Given the description of an element on the screen output the (x, y) to click on. 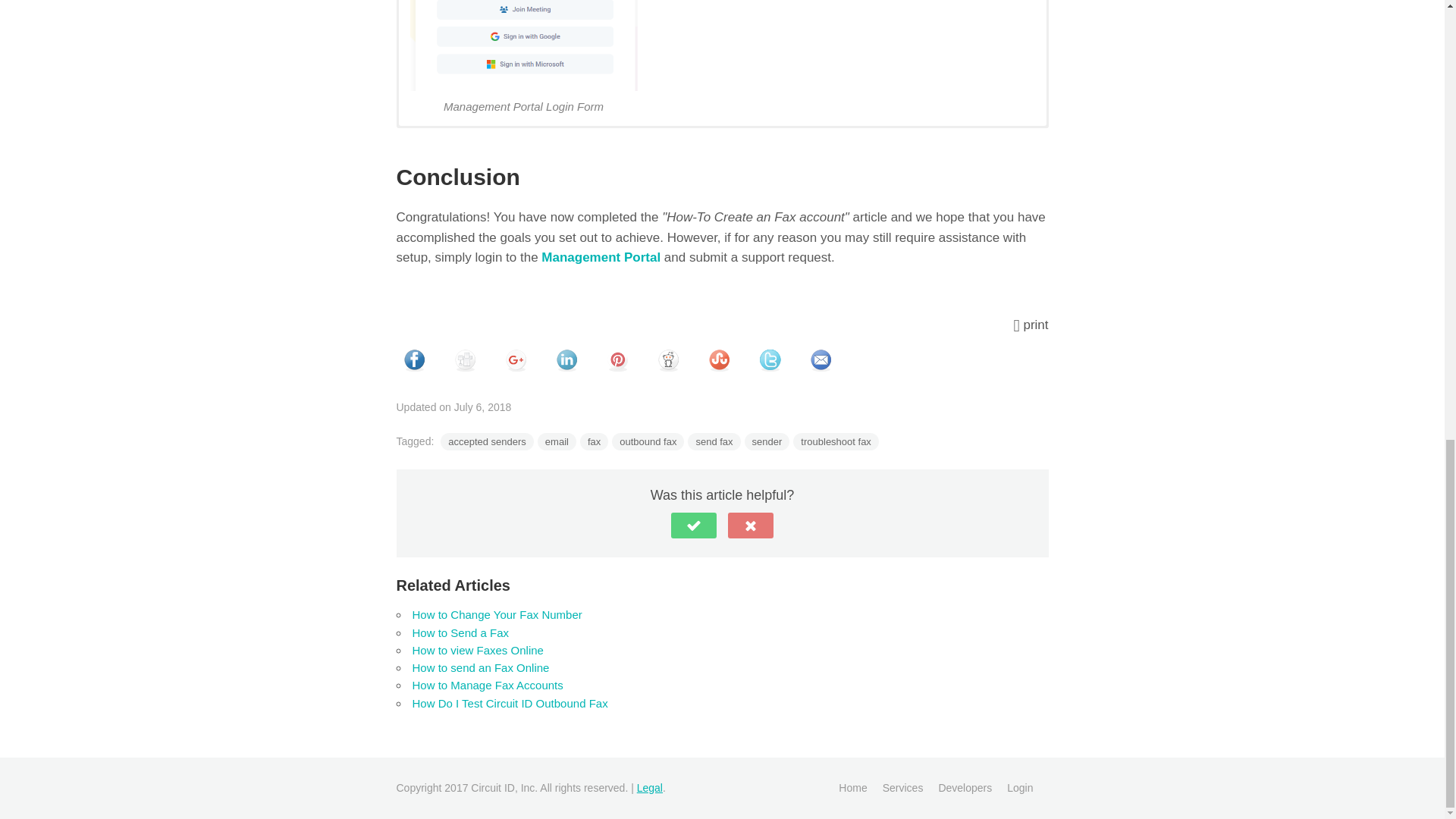
stumbleupon (718, 360)
linkedin (566, 360)
Management Portal (601, 257)
twitter (769, 360)
email (556, 441)
fax (593, 441)
sender (767, 441)
accepted senders (487, 441)
email (820, 360)
pinterest (616, 360)
troubleshoot fax (836, 441)
reddit (667, 360)
google (514, 360)
diggit (464, 360)
send fax (713, 441)
